Given the description of an element on the screen output the (x, y) to click on. 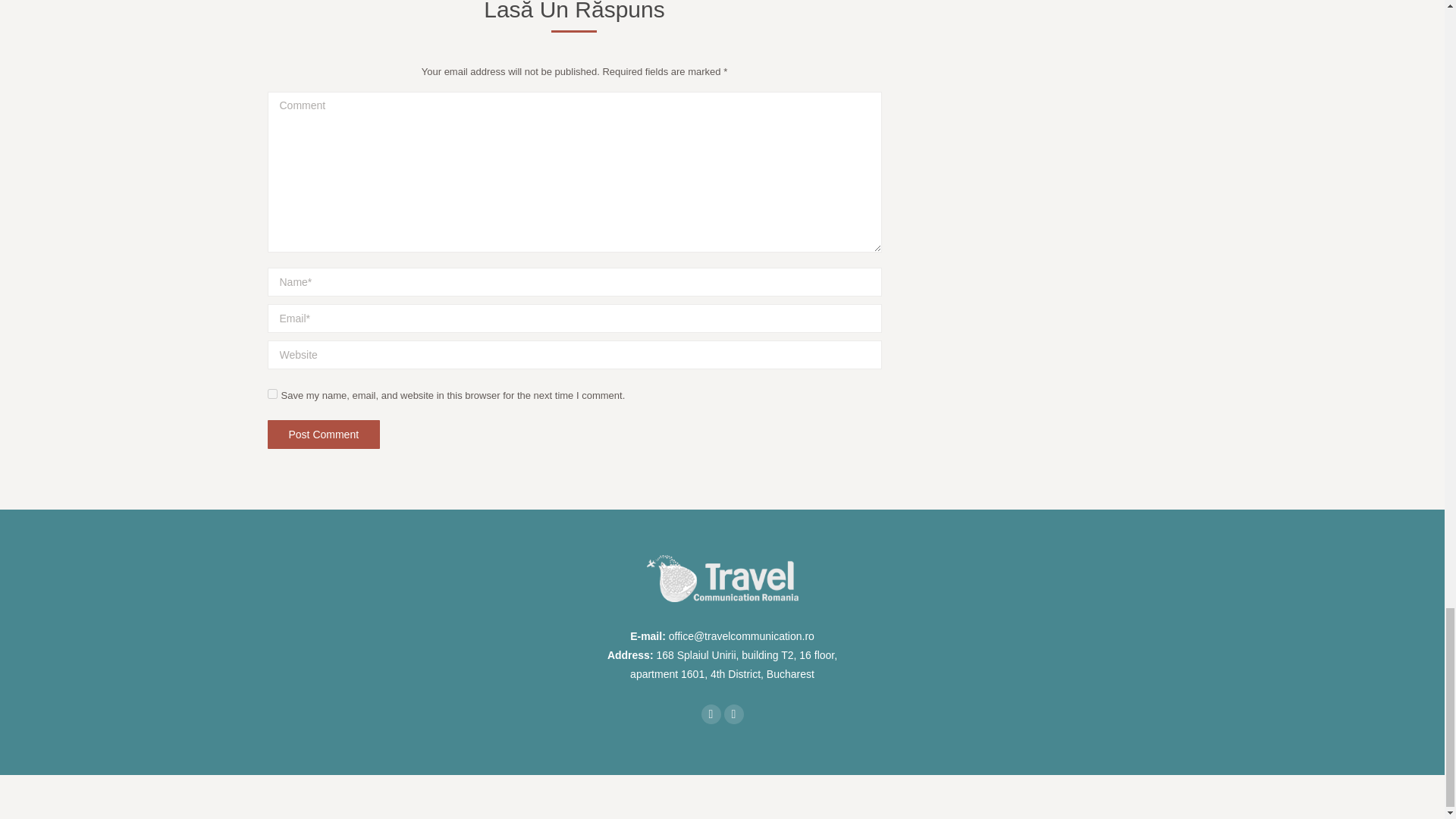
Facebook page opens in new window (710, 713)
yes (271, 393)
Instagram page opens in new window (732, 713)
